Given the description of an element on the screen output the (x, y) to click on. 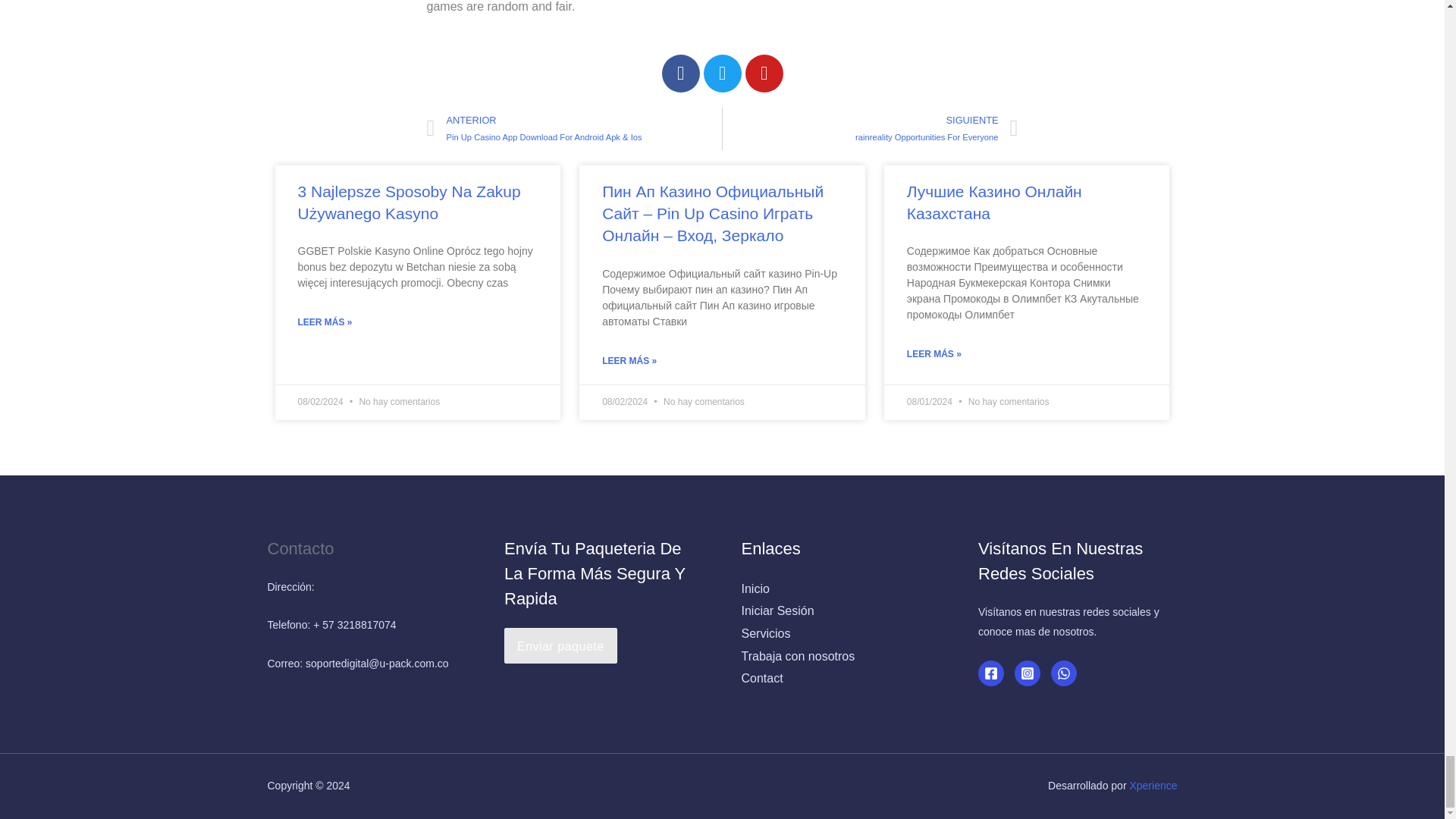
Xperience (1152, 785)
Enviar paquete (560, 646)
Contact (762, 677)
Servicios (765, 633)
Inicio (755, 588)
Trabaja con nosotros (936, 128)
